Given the description of an element on the screen output the (x, y) to click on. 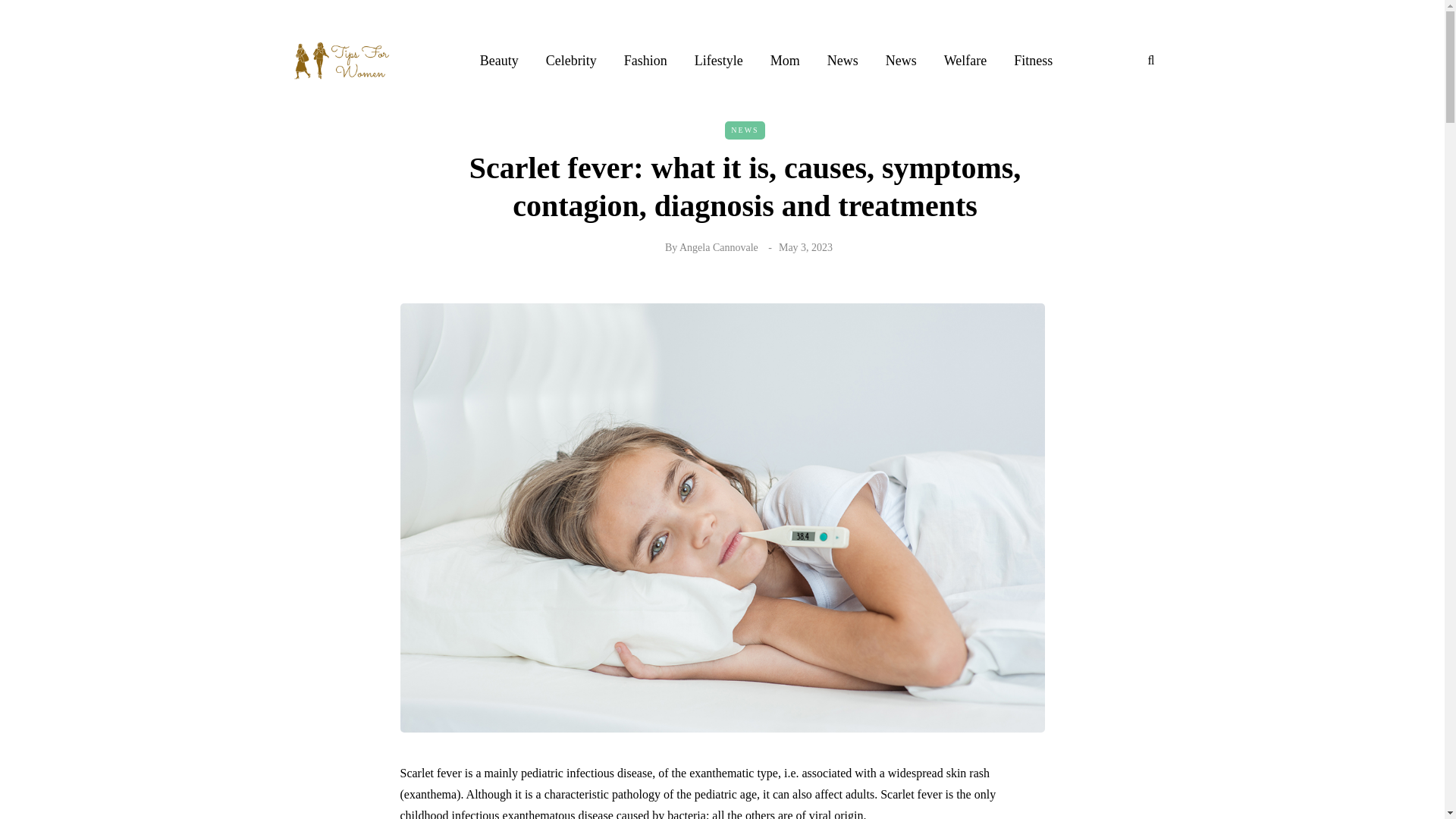
News (842, 60)
Search (43, 15)
NEWS (744, 130)
Celebrity (571, 60)
Fashion (645, 60)
Beauty (498, 60)
Fitness (1032, 60)
News (901, 60)
Mom (785, 60)
Welfare (965, 60)
